Given the description of an element on the screen output the (x, y) to click on. 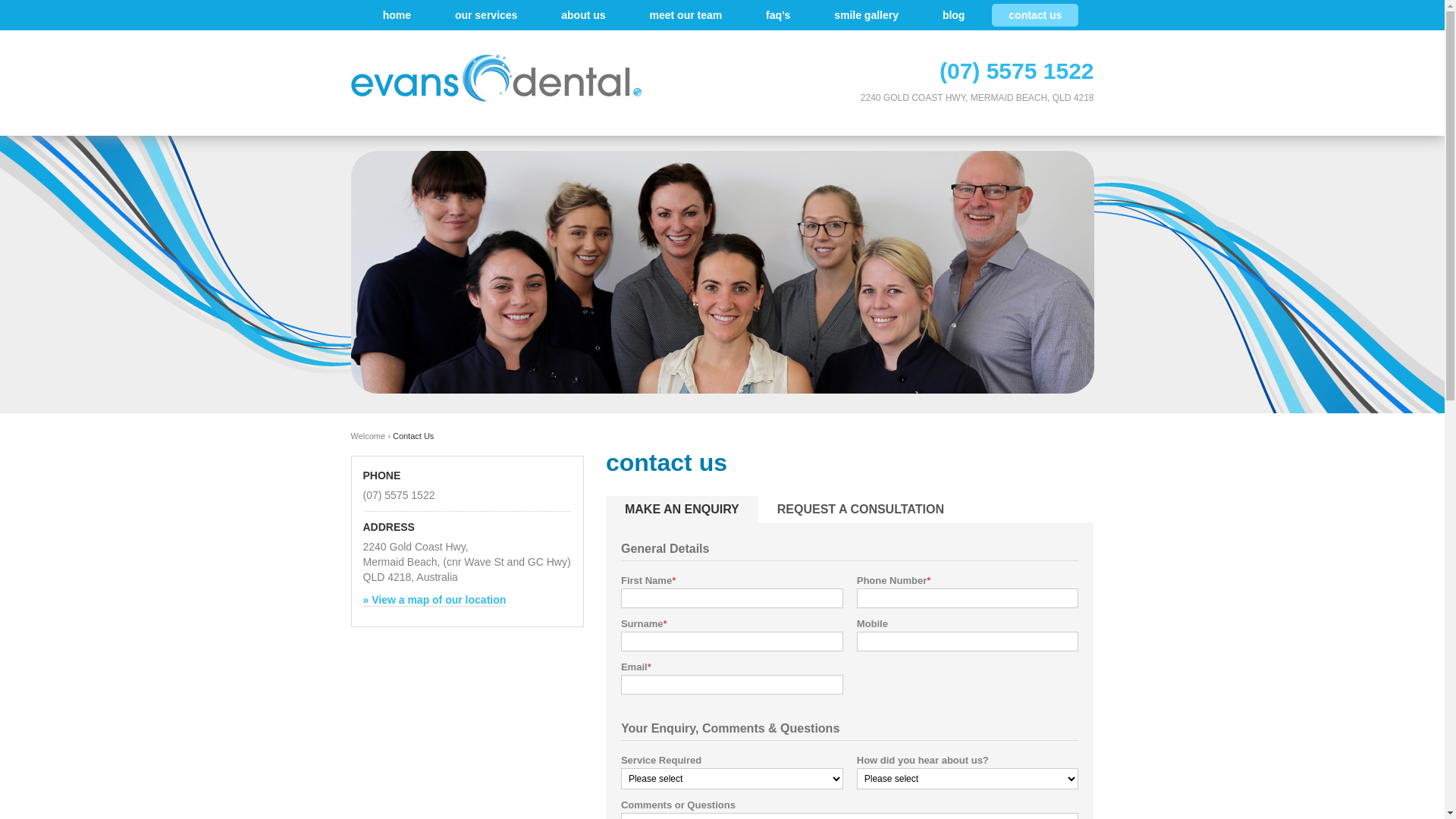
about us Element type: text (582, 14)
Welcome Element type: text (367, 435)
blog Element type: text (953, 14)
our services Element type: text (486, 14)
meet our team Element type: text (686, 14)
smile gallery Element type: text (866, 14)
MAKE AN ENQUIRY Element type: text (681, 508)
REQUEST A CONSULTATION Element type: text (860, 508)
contact us Element type: text (1034, 14)
home Element type: text (396, 14)
Evans Dental Element type: hover (498, 79)
